Given the description of an element on the screen output the (x, y) to click on. 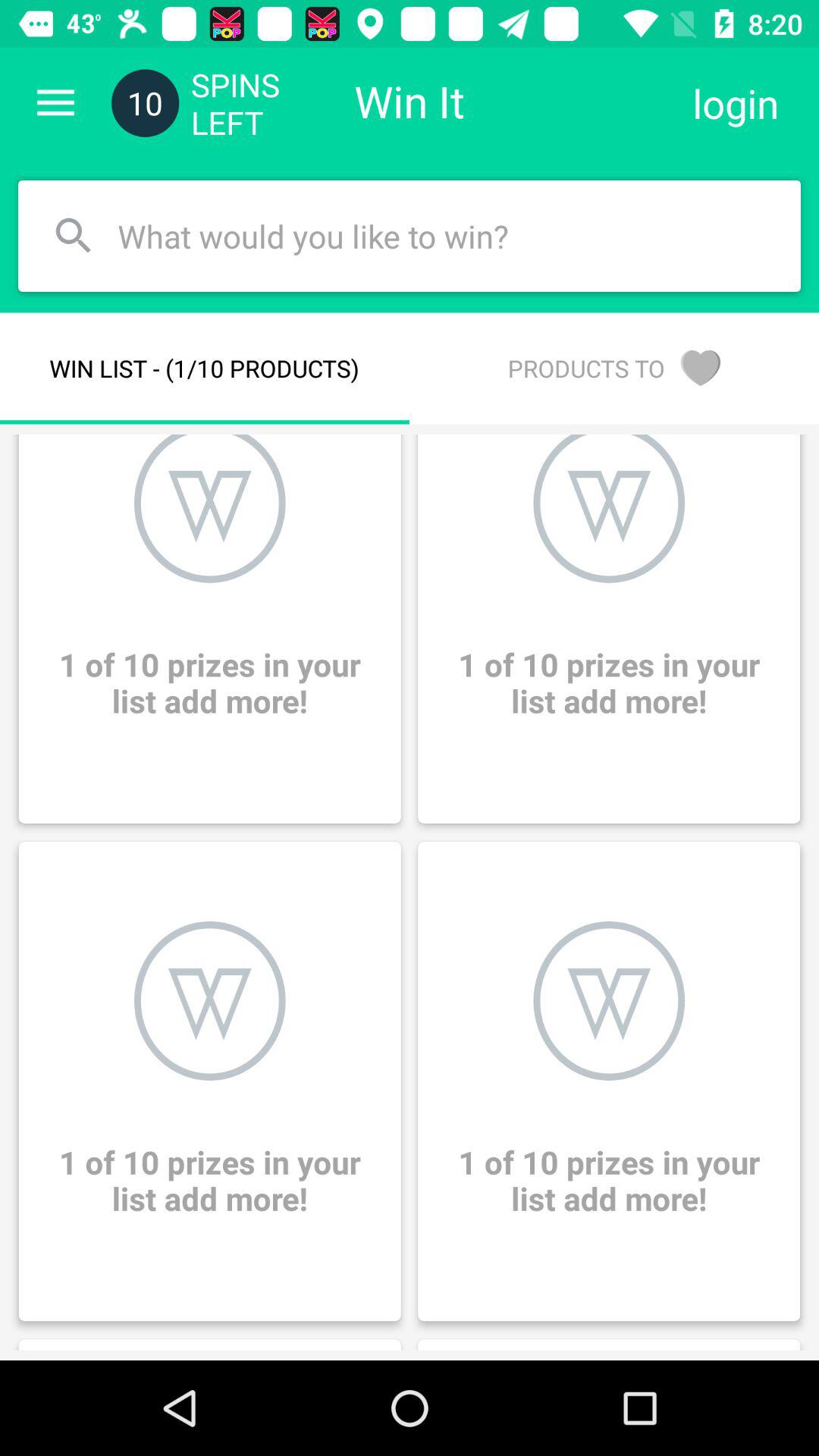
turn on item next to win it icon (735, 102)
